Given the description of an element on the screen output the (x, y) to click on. 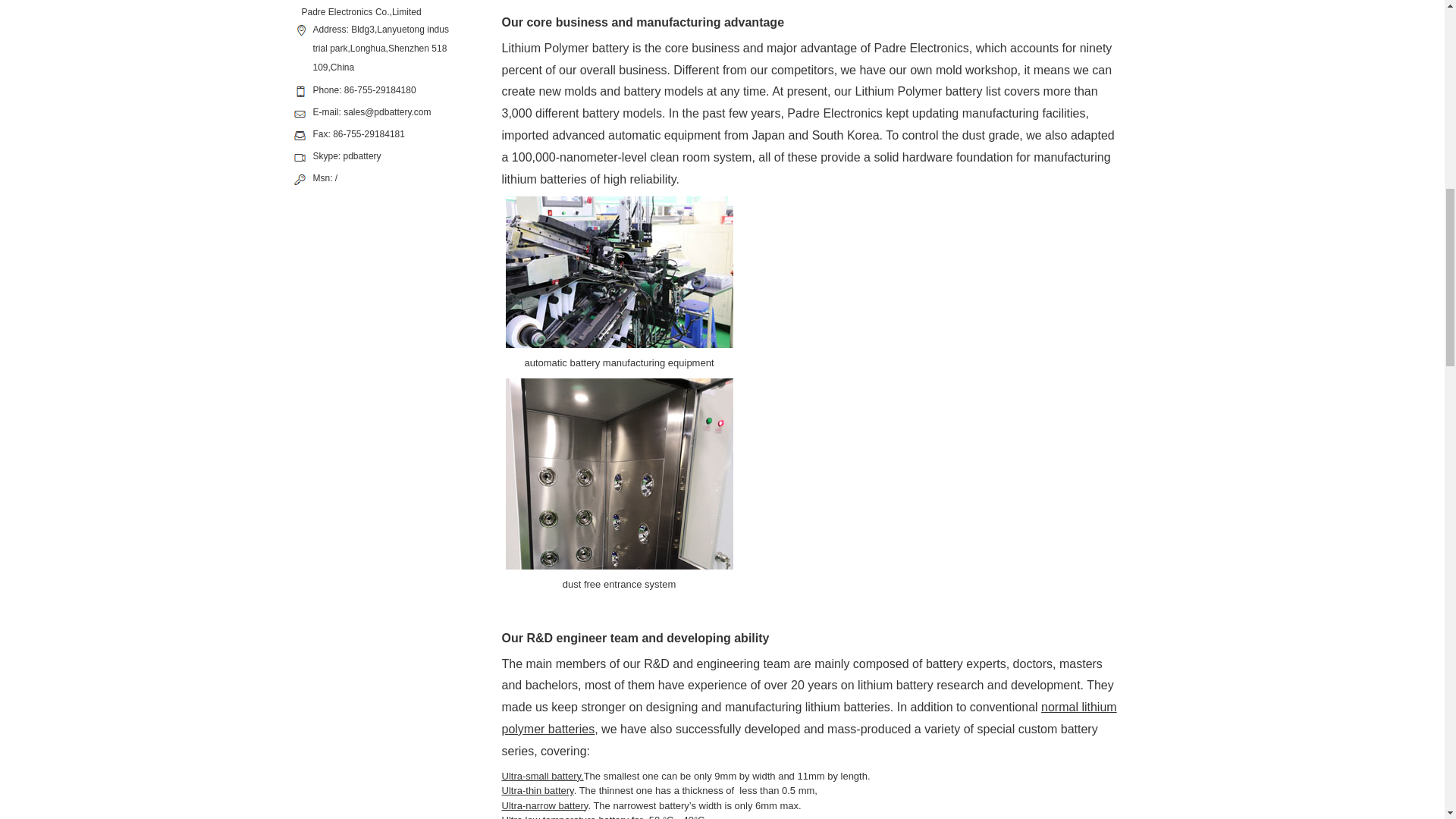
Ultra thin battery (537, 790)
Lithium polymer battery cells list 2019 (809, 718)
Ultra narrow lipo battery (545, 805)
small lipo battery (541, 776)
